Given the description of an element on the screen output the (x, y) to click on. 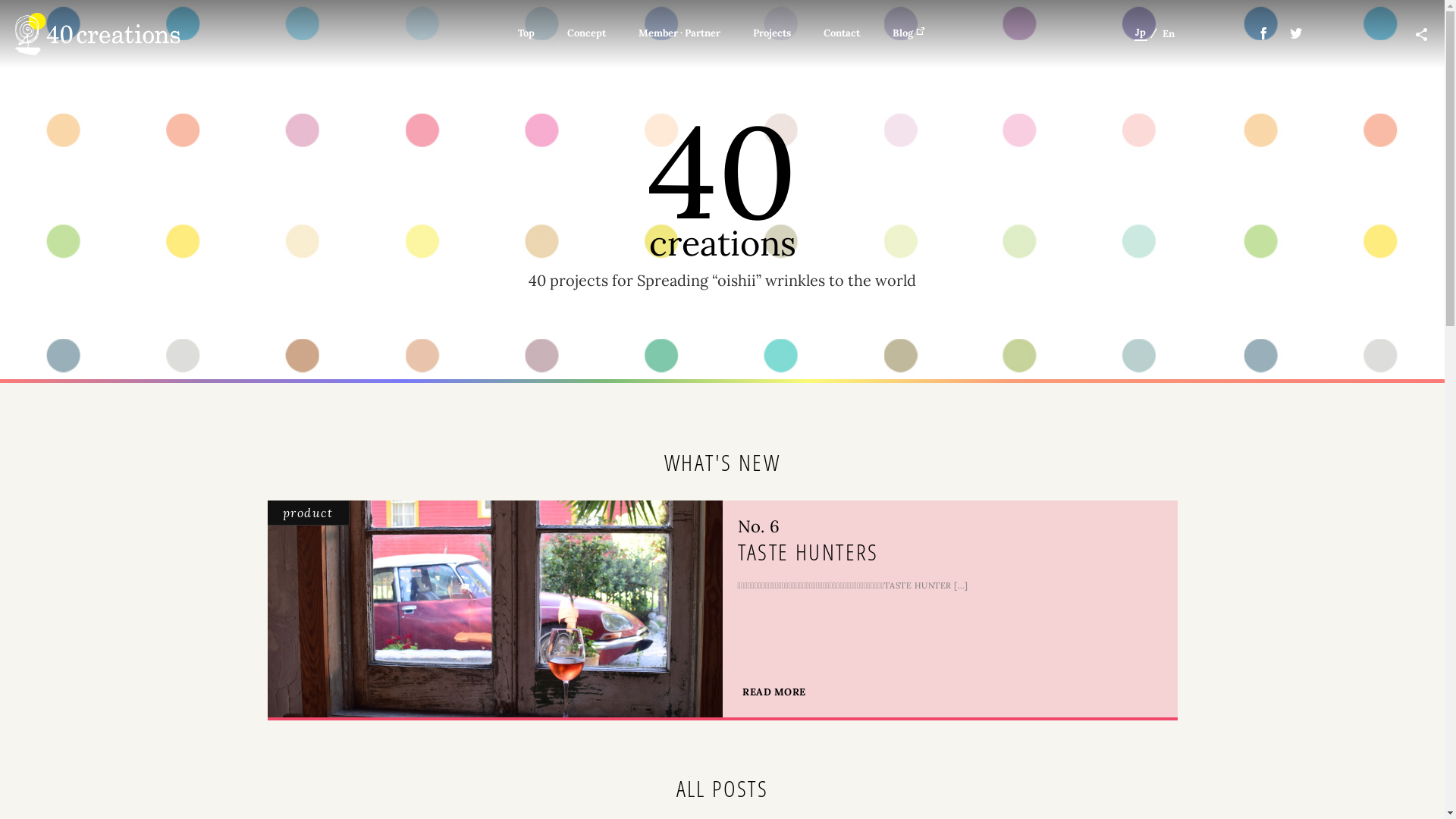
Top Element type: text (525, 32)
English Element type: text (1179, 32)
Contact Element type: text (841, 32)
Concept Element type: text (586, 32)
Blog Element type: text (908, 32)
40 creations Element type: hover (97, 33)
Projects Element type: text (771, 32)
